Given the description of an element on the screen output the (x, y) to click on. 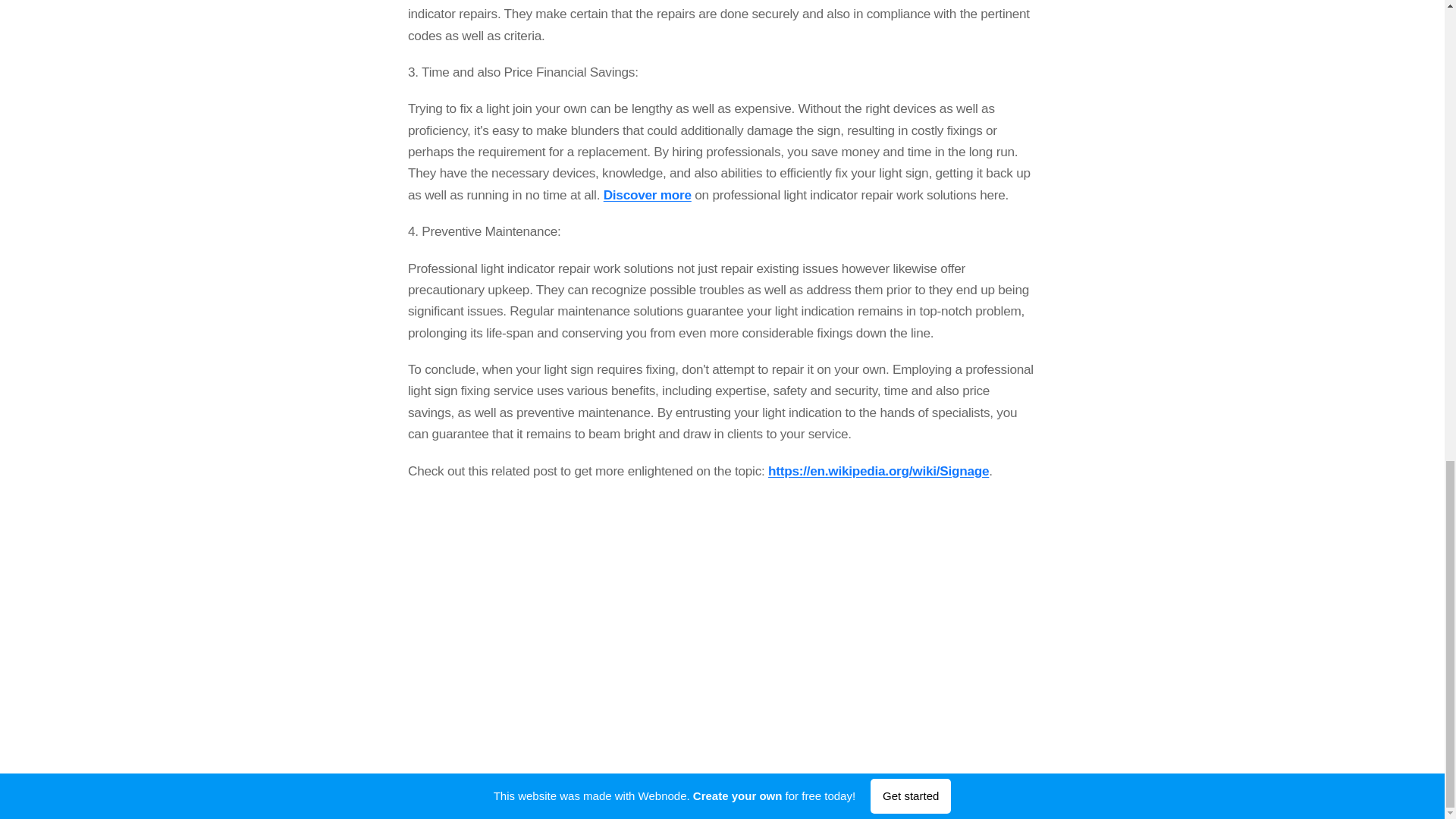
Discover more (646, 194)
